Given the description of an element on the screen output the (x, y) to click on. 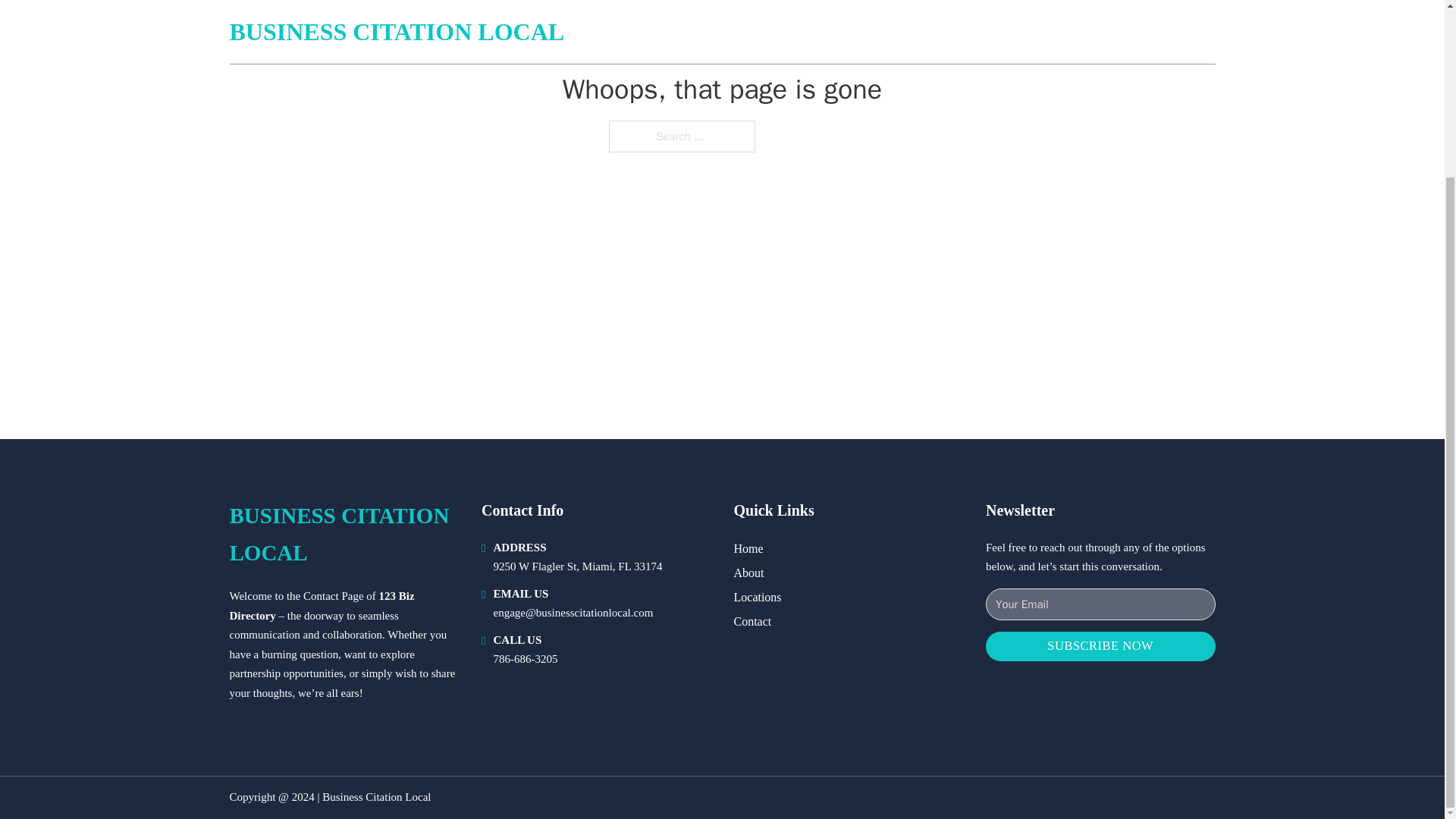
786-686-3205 (525, 658)
Contact (752, 620)
Home (747, 548)
BUSINESS CITATION LOCAL (343, 534)
About (748, 572)
Locations (757, 597)
SUBSCRIBE NOW (1100, 645)
